Given the description of an element on the screen output the (x, y) to click on. 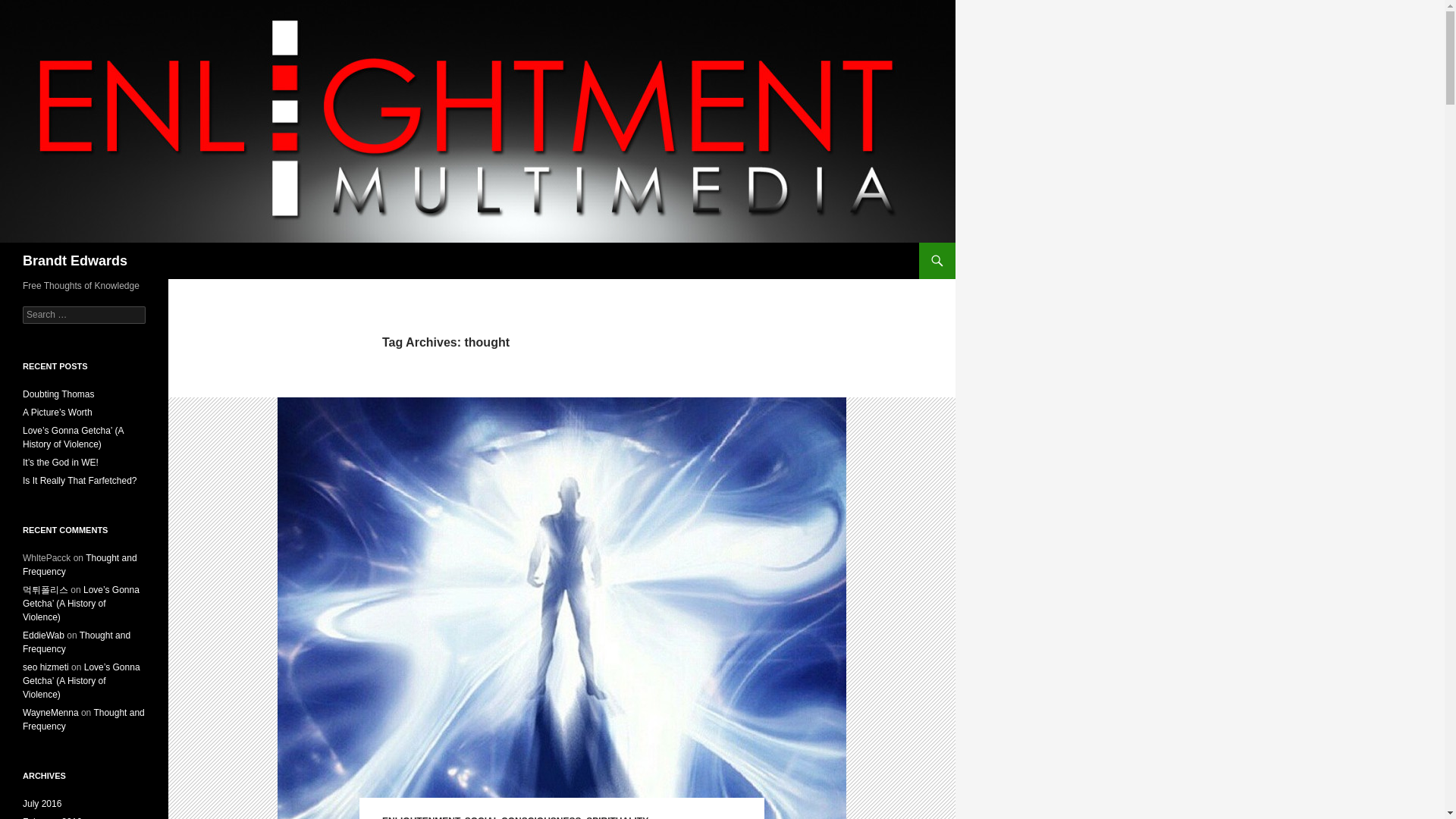
SPIRITUALITY (616, 817)
SOCIAL CONSCIOUSNESS (522, 817)
ENLIGHTENMENT (420, 817)
Brandt Edwards (75, 260)
